Given the description of an element on the screen output the (x, y) to click on. 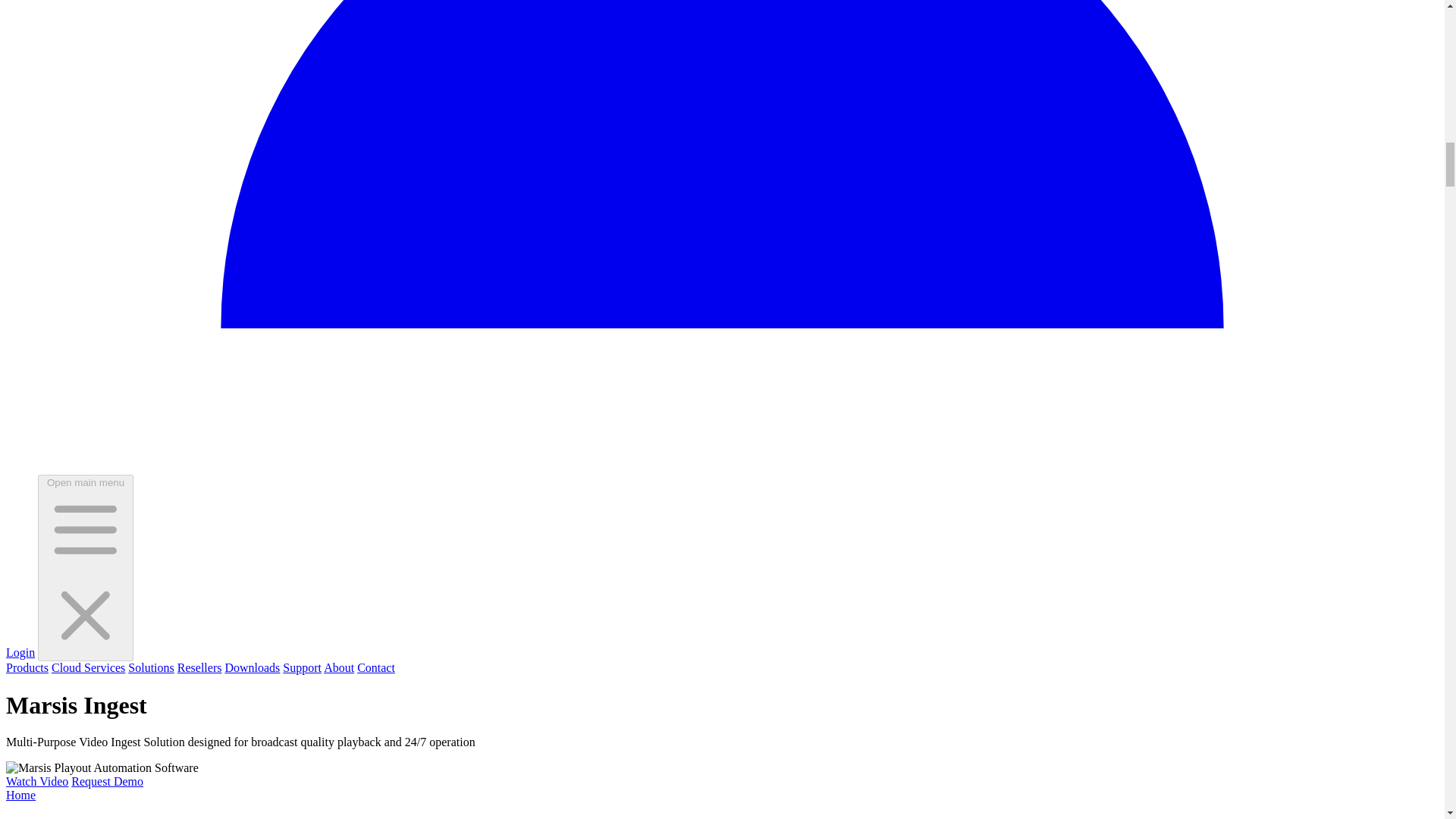
Products (26, 667)
Watch Video (36, 780)
About (338, 667)
Solutions (150, 667)
Support (301, 667)
Resellers (199, 667)
Contact (375, 667)
Request Demo (106, 780)
Downloads (251, 667)
Home (19, 794)
